Given the description of an element on the screen output the (x, y) to click on. 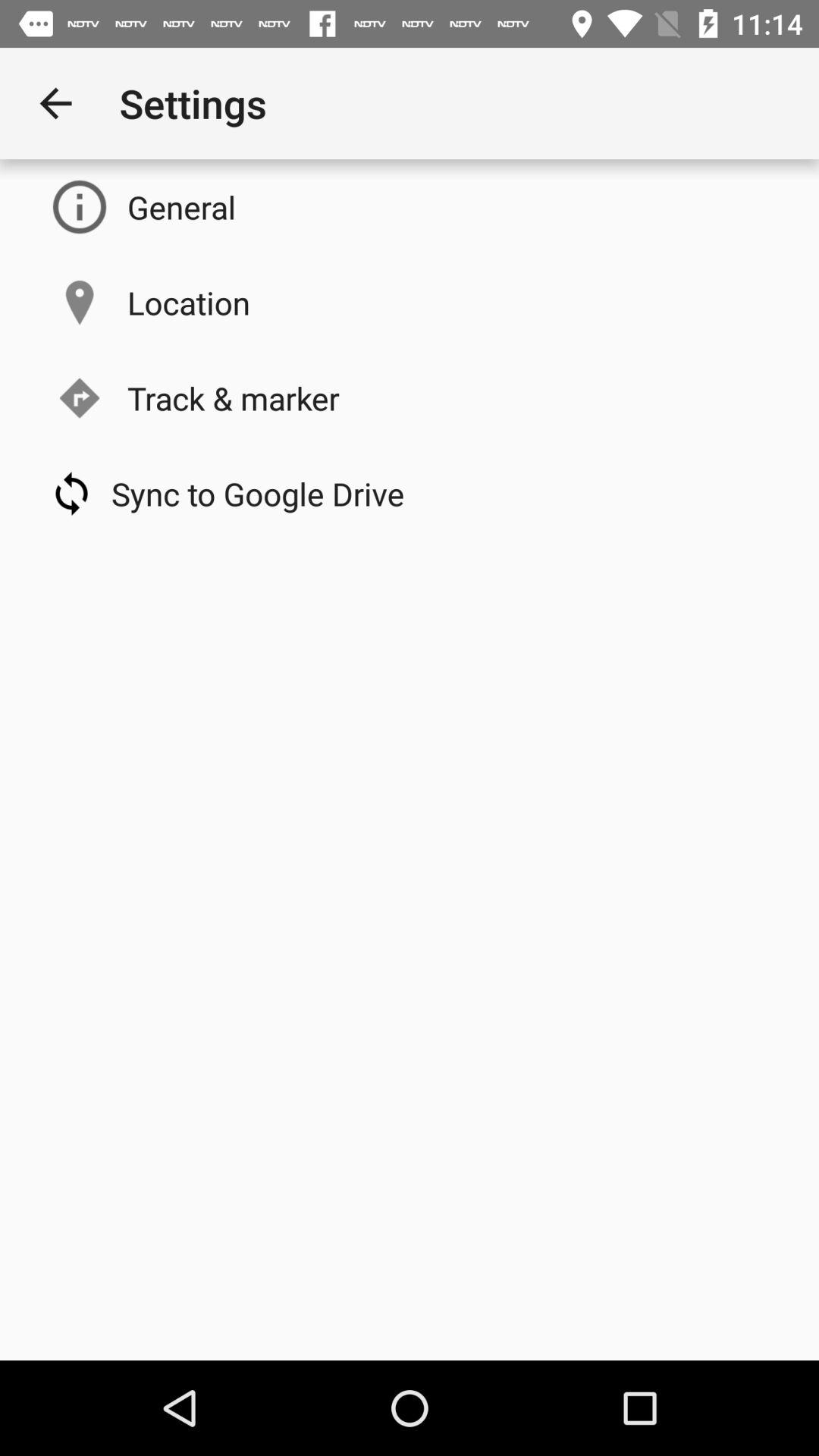
select icon below the general icon (188, 302)
